Given the description of an element on the screen output the (x, y) to click on. 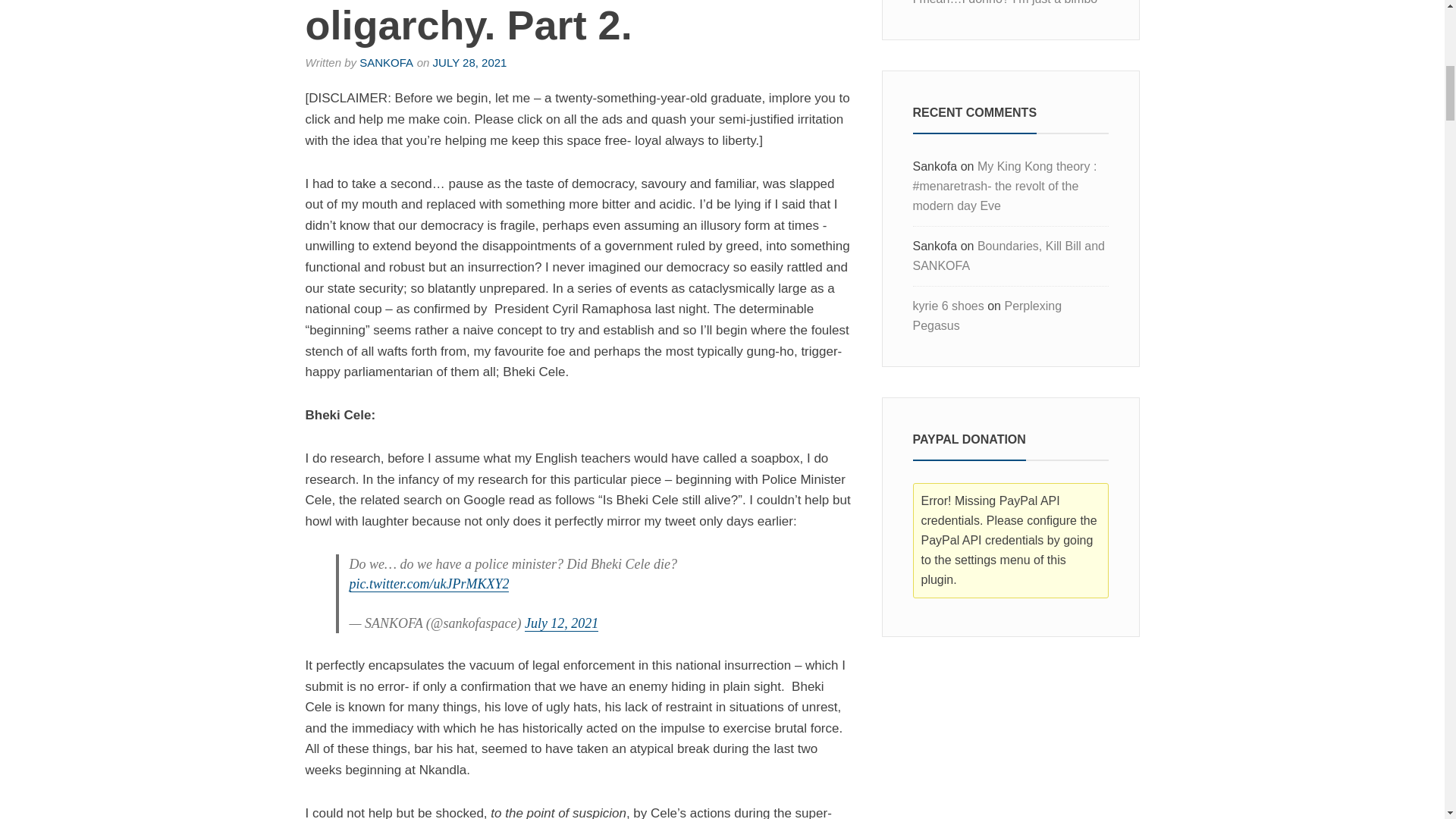
SANKOFA (386, 62)
JULY 28, 2021 (469, 62)
July 12, 2021 (561, 622)
